Given the description of an element on the screen output the (x, y) to click on. 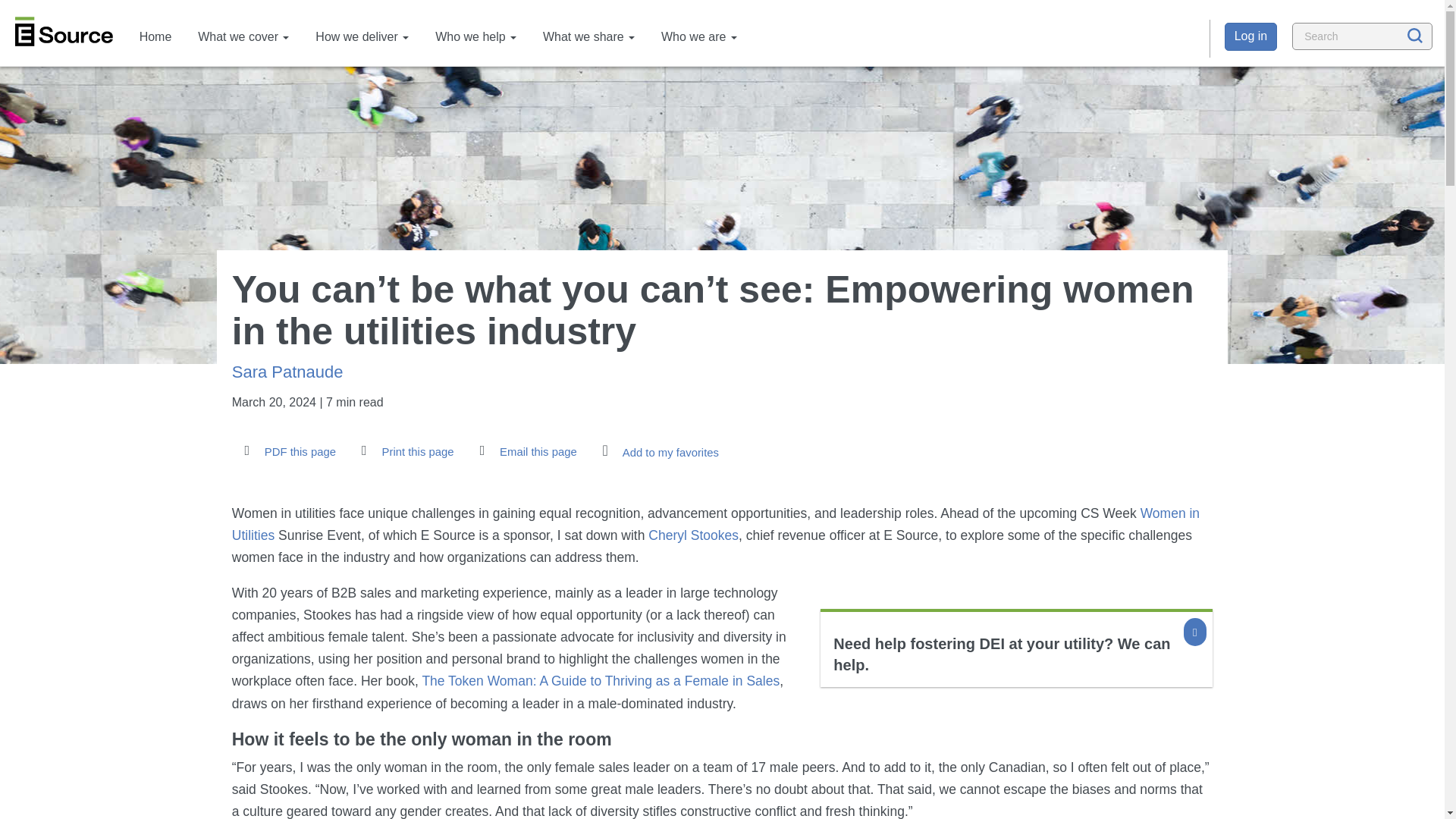
Email this page (525, 451)
Cheryl Stookes (692, 534)
Search (1321, 54)
Sara Patnaude (287, 371)
Log in (1251, 36)
Print this page (404, 451)
Enter the terms you wish to search for. (1362, 35)
Add to my favorites (657, 451)
Home (155, 36)
